Given the description of an element on the screen output the (x, y) to click on. 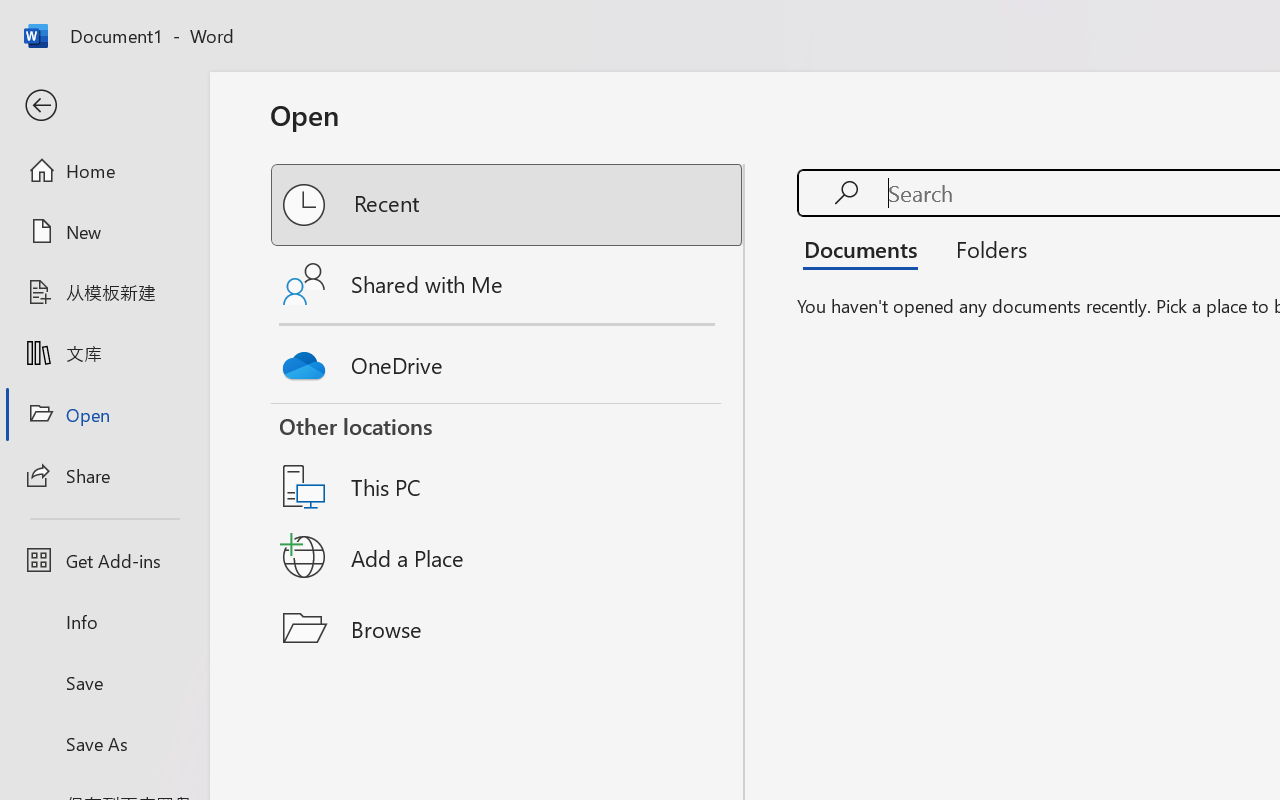
Documents (866, 248)
Browse (507, 627)
Recent (507, 205)
Add a Place (507, 557)
Folders (984, 248)
Get Add-ins (104, 560)
Save As (104, 743)
Shared with Me (507, 283)
OneDrive (507, 359)
